Given the description of an element on the screen output the (x, y) to click on. 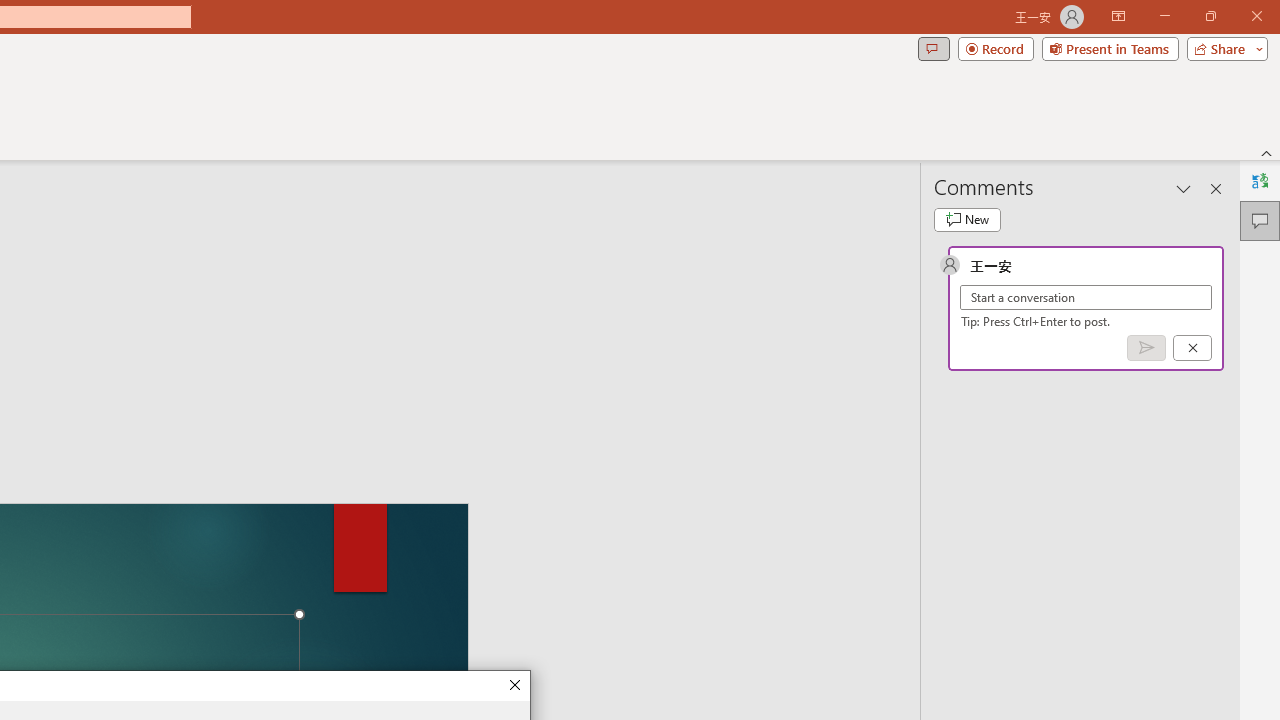
New comment (967, 219)
Present in Teams (1109, 48)
Ribbon Display Options (1118, 16)
